Given the description of an element on the screen output the (x, y) to click on. 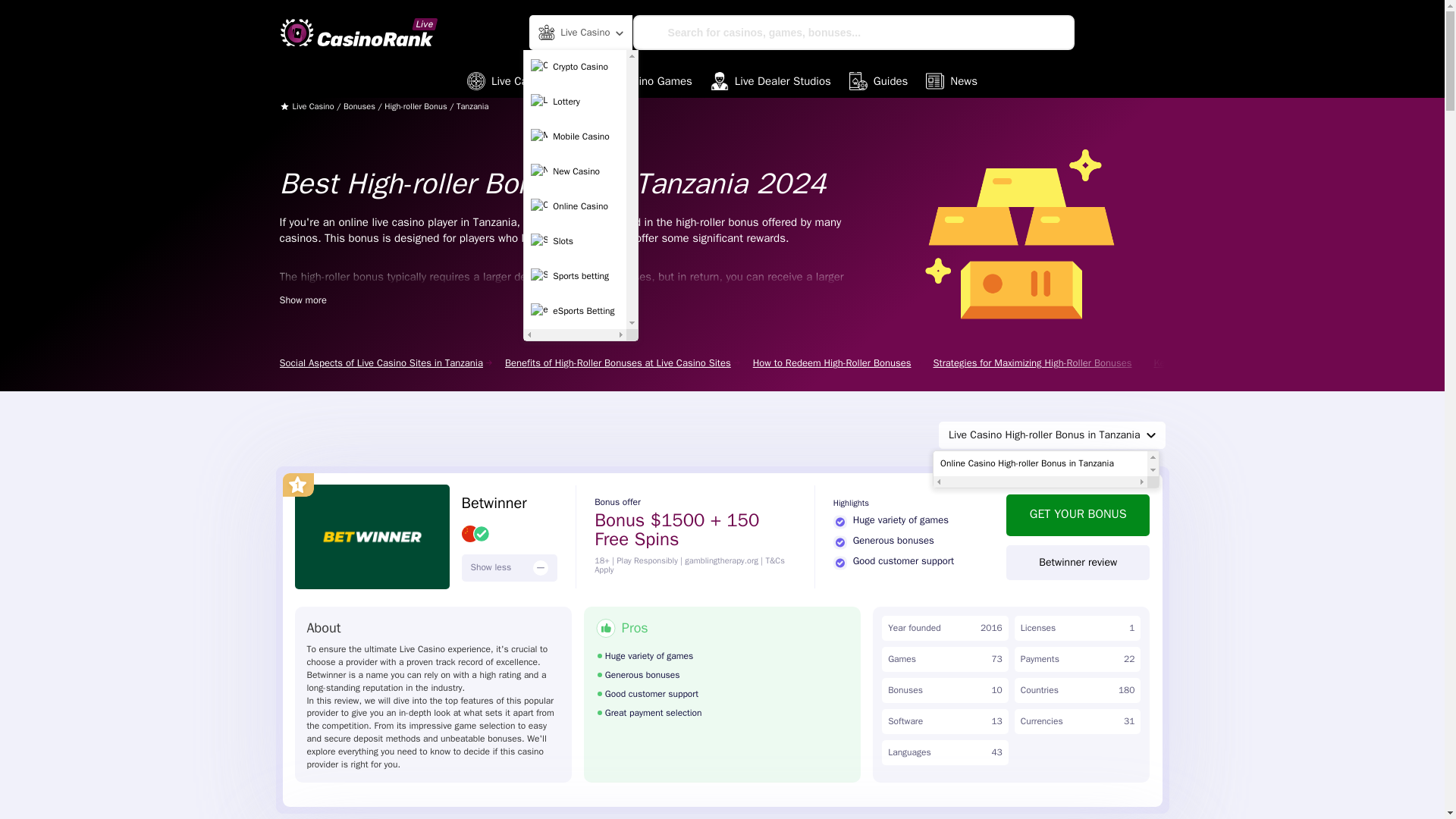
New Casino (575, 172)
Lottery (575, 102)
Mobile Casino (575, 136)
Live Casino Games (632, 80)
Live Casinos (510, 80)
eSports Betting (575, 311)
Online Casino (575, 206)
Crypto Casino (575, 67)
Sports betting (575, 276)
Slots (575, 241)
